Given the description of an element on the screen output the (x, y) to click on. 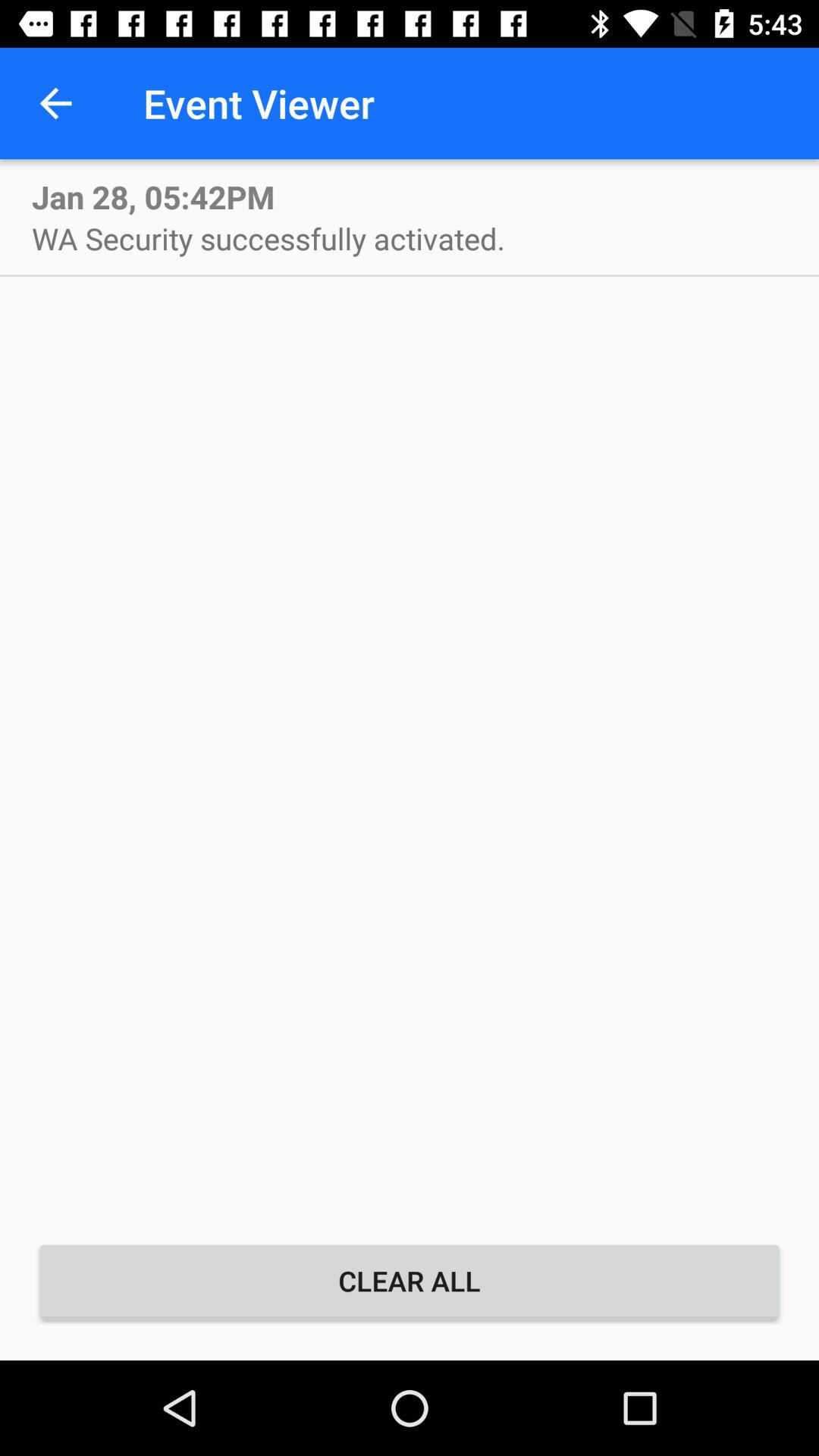
press the icon below jan 28 05 item (268, 238)
